Given the description of an element on the screen output the (x, y) to click on. 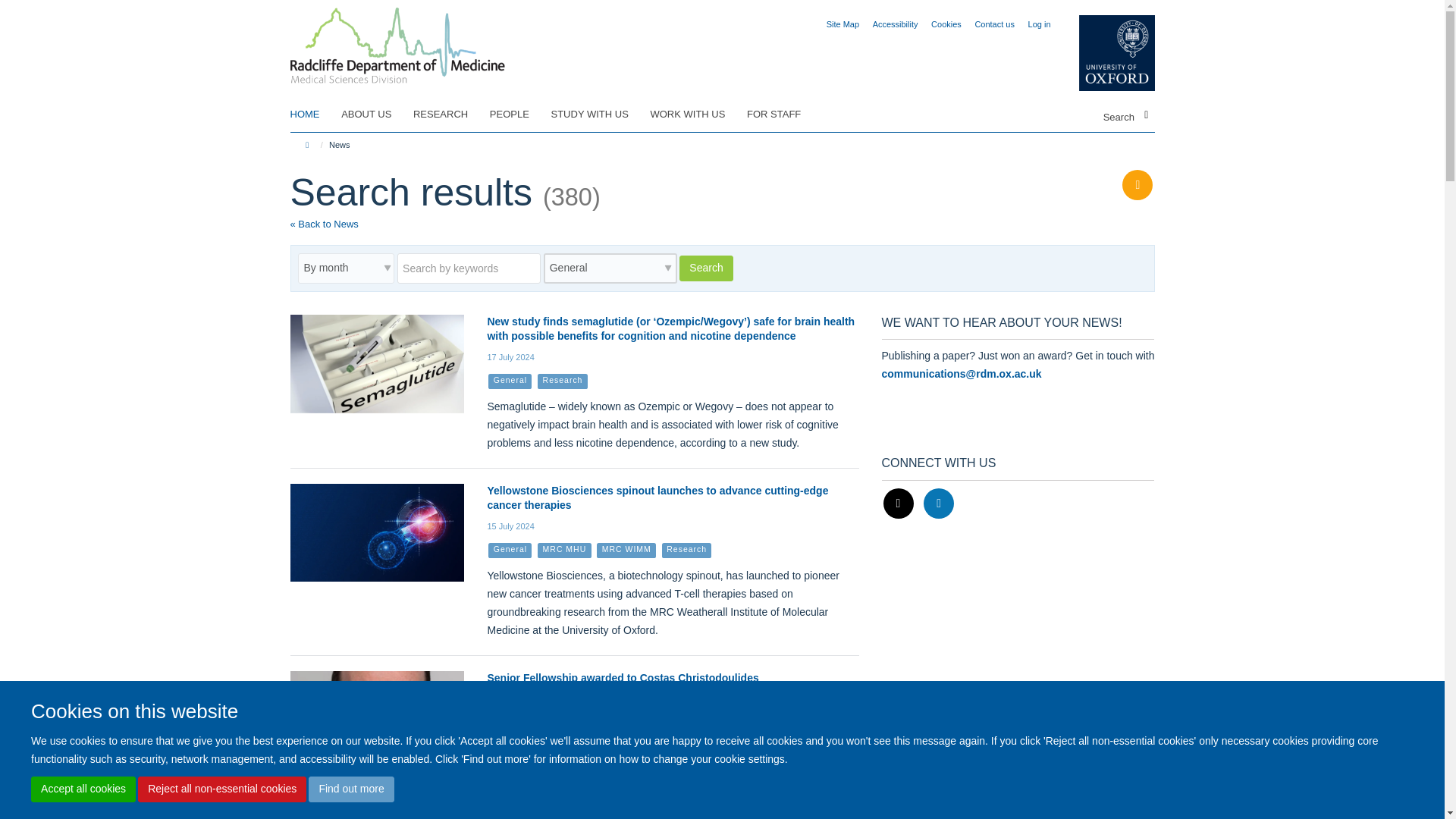
Cookies (945, 23)
STUDY WITH US (598, 114)
Reject all non-essential cookies (221, 789)
ABOUT US (375, 114)
Find out more (350, 789)
FOR STAFF (782, 114)
HOME (313, 114)
RESEARCH (449, 114)
Contact us (994, 23)
Log in (1039, 23)
Site Map (843, 23)
Accessibility (895, 23)
WORK WITH US (696, 114)
Accept all cookies (82, 789)
